Given the description of an element on the screen output the (x, y) to click on. 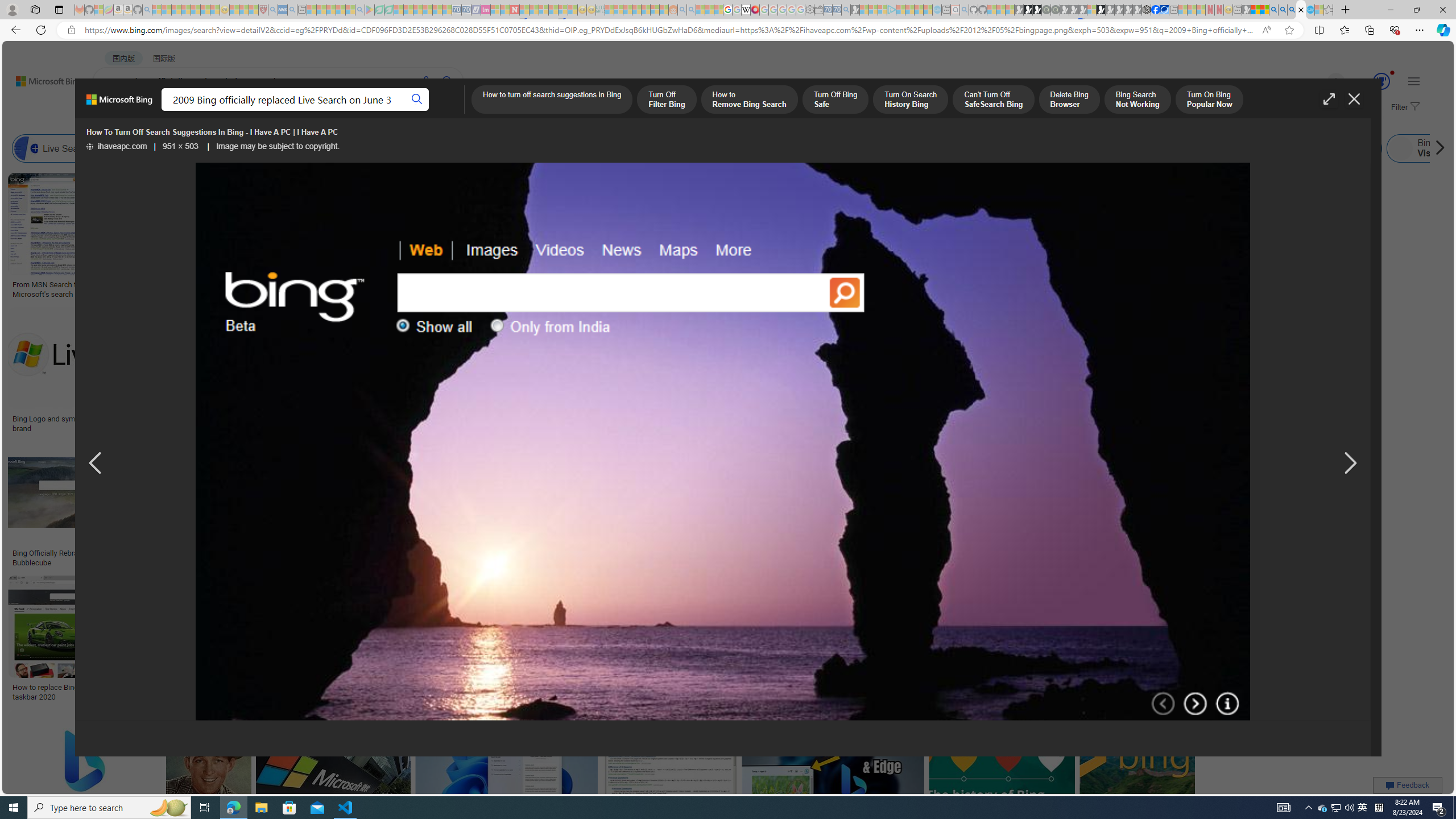
Bing - SEOLend (219, 552)
Https Bing Search Q MSN (1234, 148)
Future Focus Report 2024 - Sleeping (1054, 9)
Full screen (1328, 99)
